Given the description of an element on the screen output the (x, y) to click on. 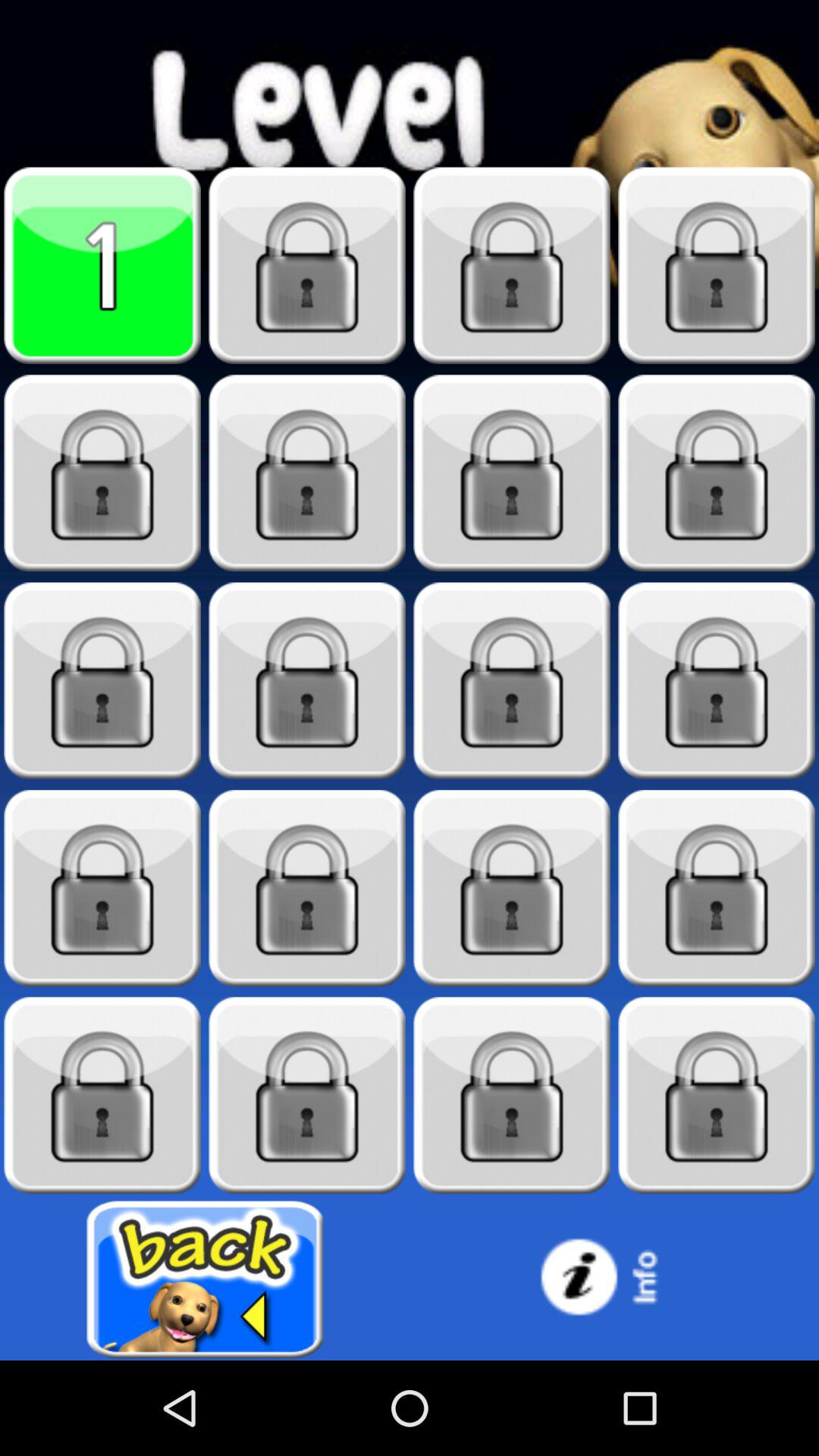
play level 1 (102, 265)
